Given the description of an element on the screen output the (x, y) to click on. 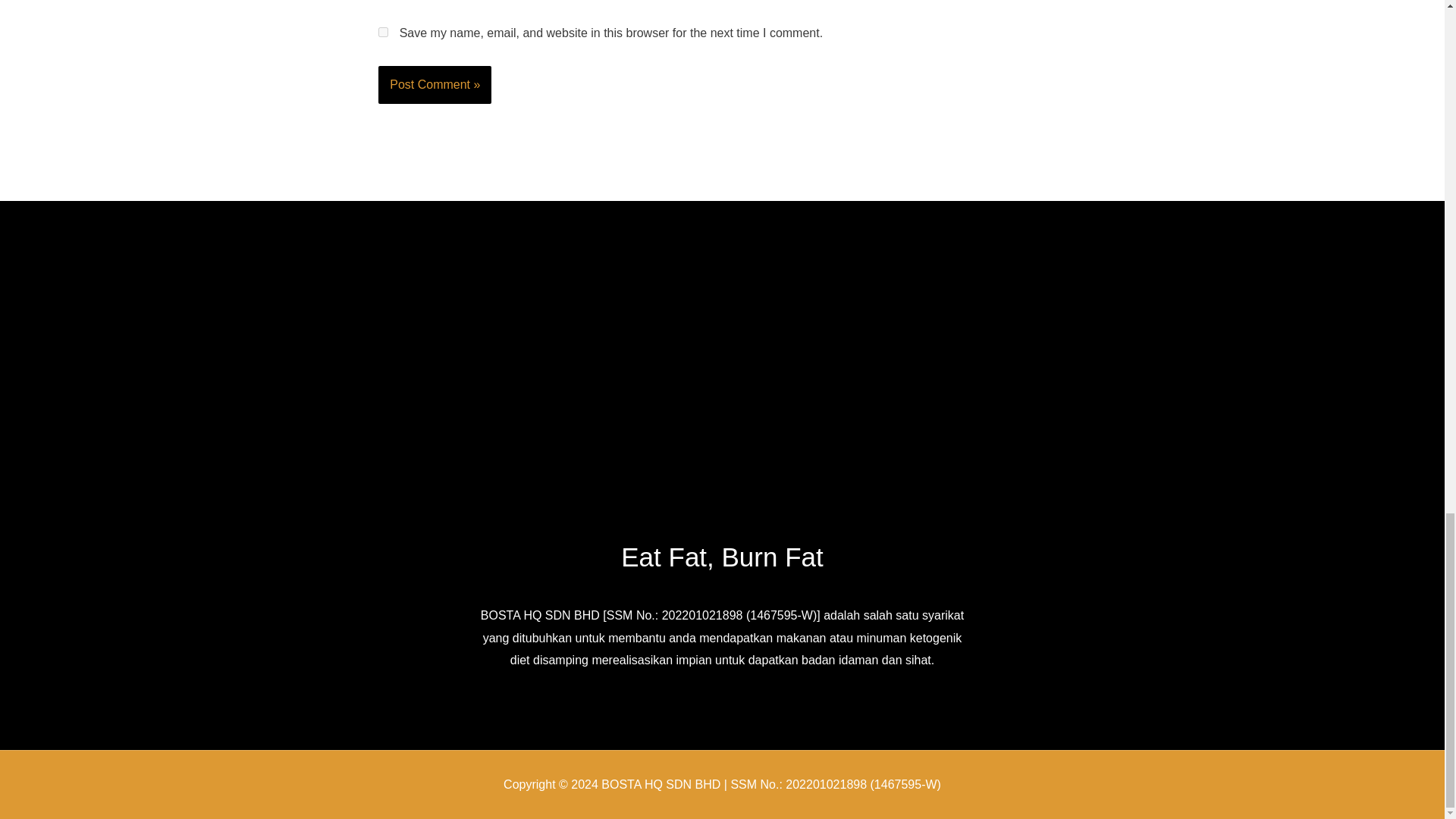
yes (383, 31)
